Given the description of an element on the screen output the (x, y) to click on. 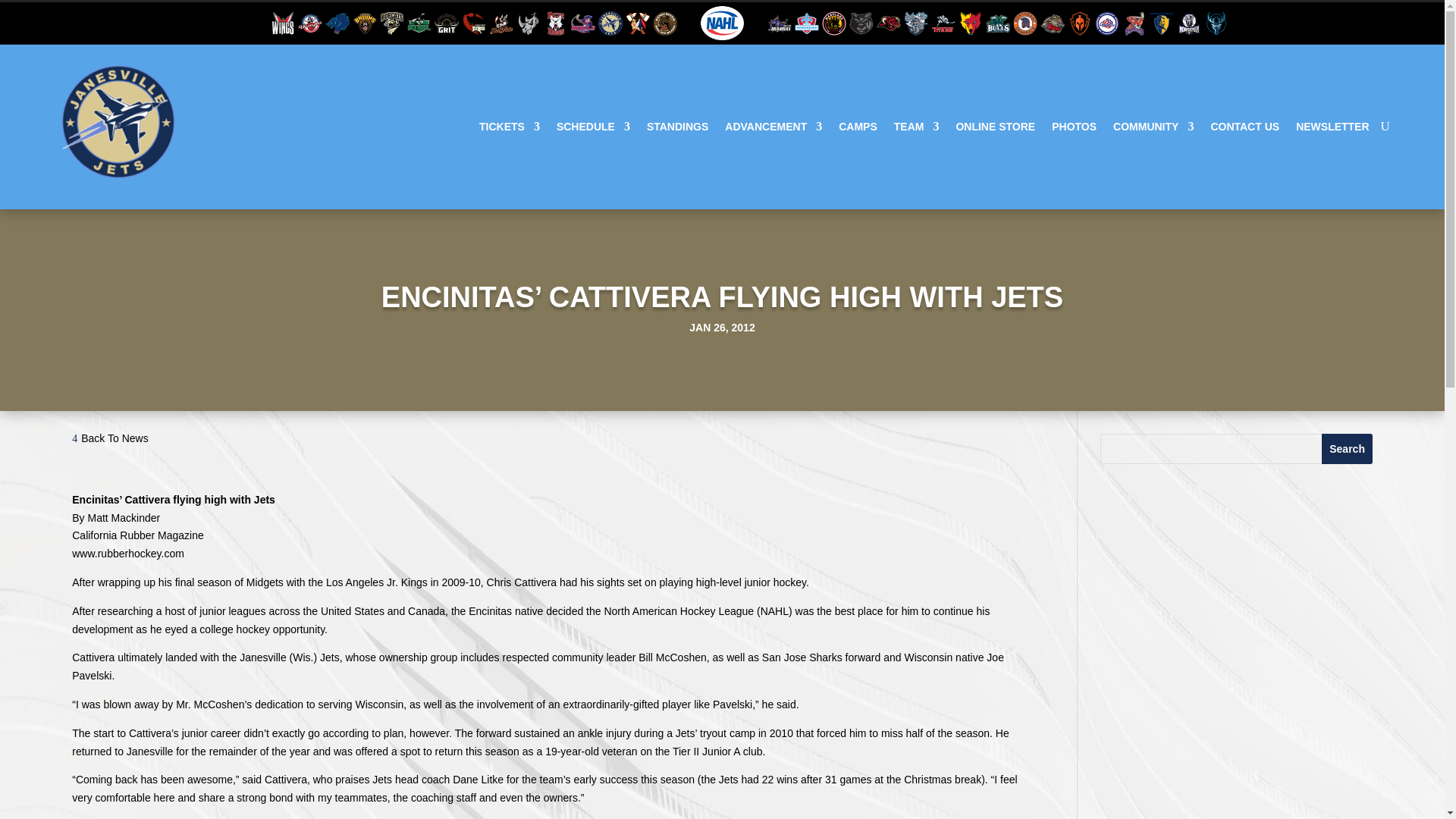
Austin Bruins (364, 21)
Bismarck Bobcats (392, 21)
Colorado Grit (446, 21)
Fairbanks Ice Dogs (555, 21)
Amarillo Wranglers (310, 21)
Anchorage Wolverines (336, 21)
Janesville Jets (610, 21)
Johnstown Tomahawks (637, 21)
Chippewa Steel (419, 21)
Corpus Christi Ice Rays (473, 21)
Kenai River Brown Bears (664, 21)
Lone Star Brahmas (779, 21)
Jamestown Rebels (582, 21)
Danbury Jr. Hat Tricks (501, 21)
Aberdeen Wings (283, 21)
